Given the description of an element on the screen output the (x, y) to click on. 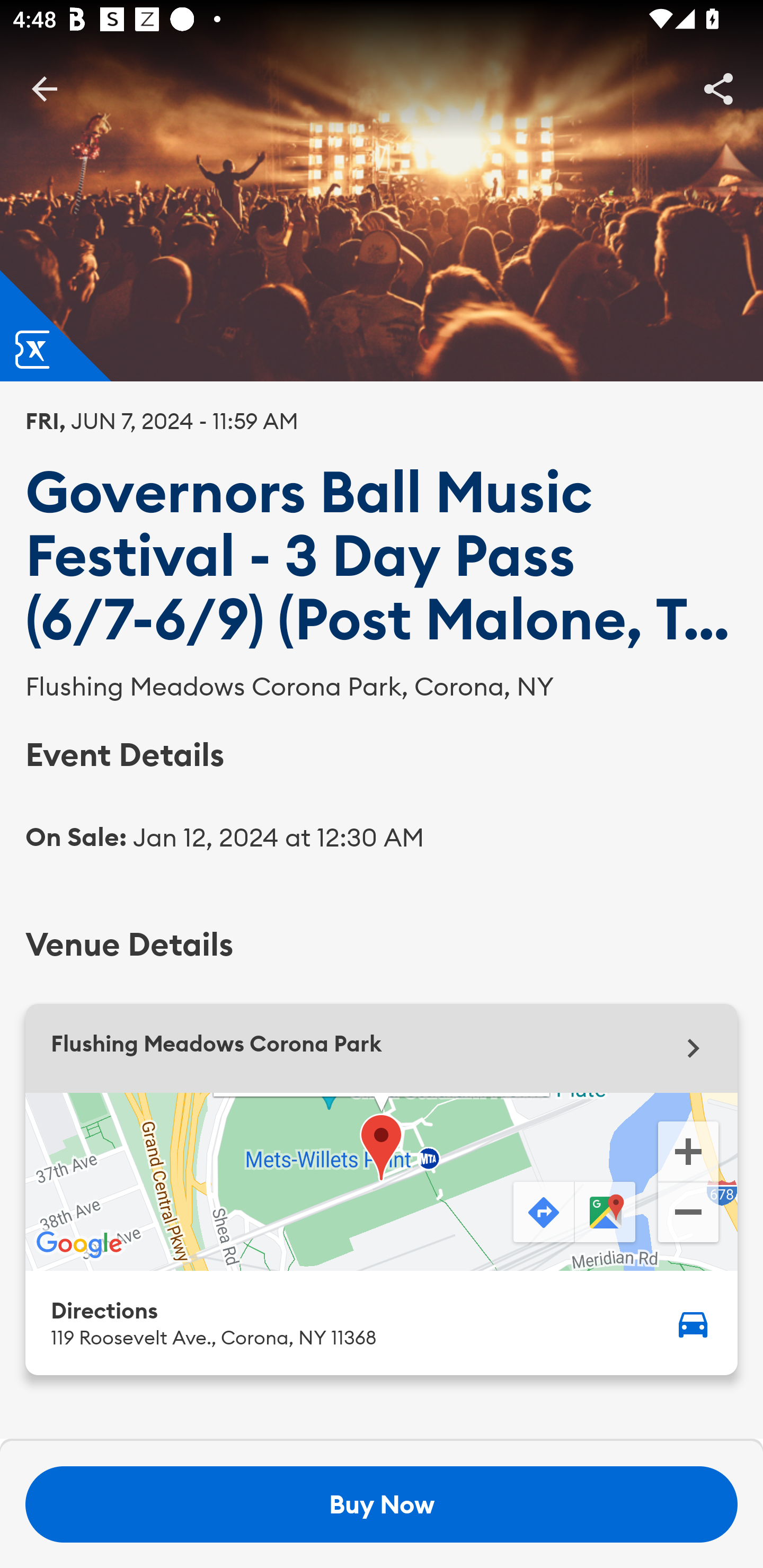
BackButton (44, 88)
Share (718, 88)
Flushing Meadows Corona Park (381, 1047)
Zoom in (687, 1149)
Get directions (541, 1212)
Open in Google Maps (606, 1212)
Zoom out (687, 1214)
Directions 119 Roosevelt Ave., Corona, NY 11368 (381, 1322)
Buy Now (381, 1504)
